Given the description of an element on the screen output the (x, y) to click on. 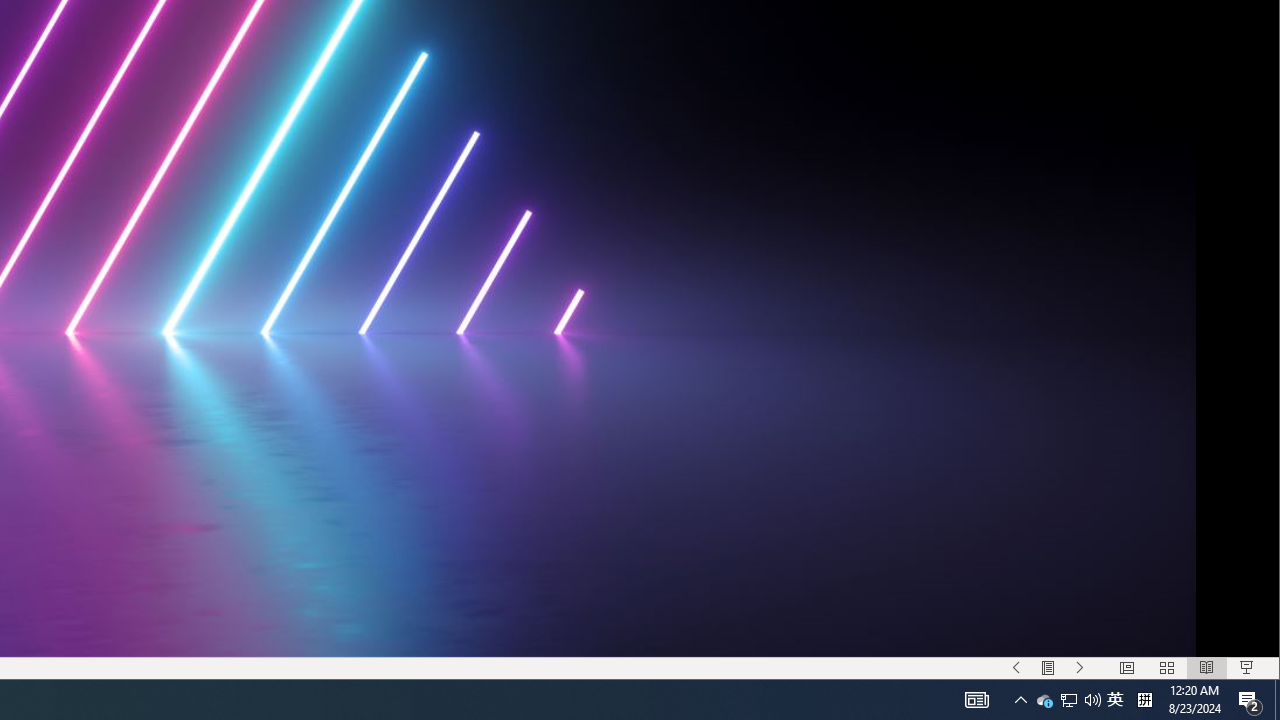
Action Center, 2 new notifications (1115, 699)
